Given the description of an element on the screen output the (x, y) to click on. 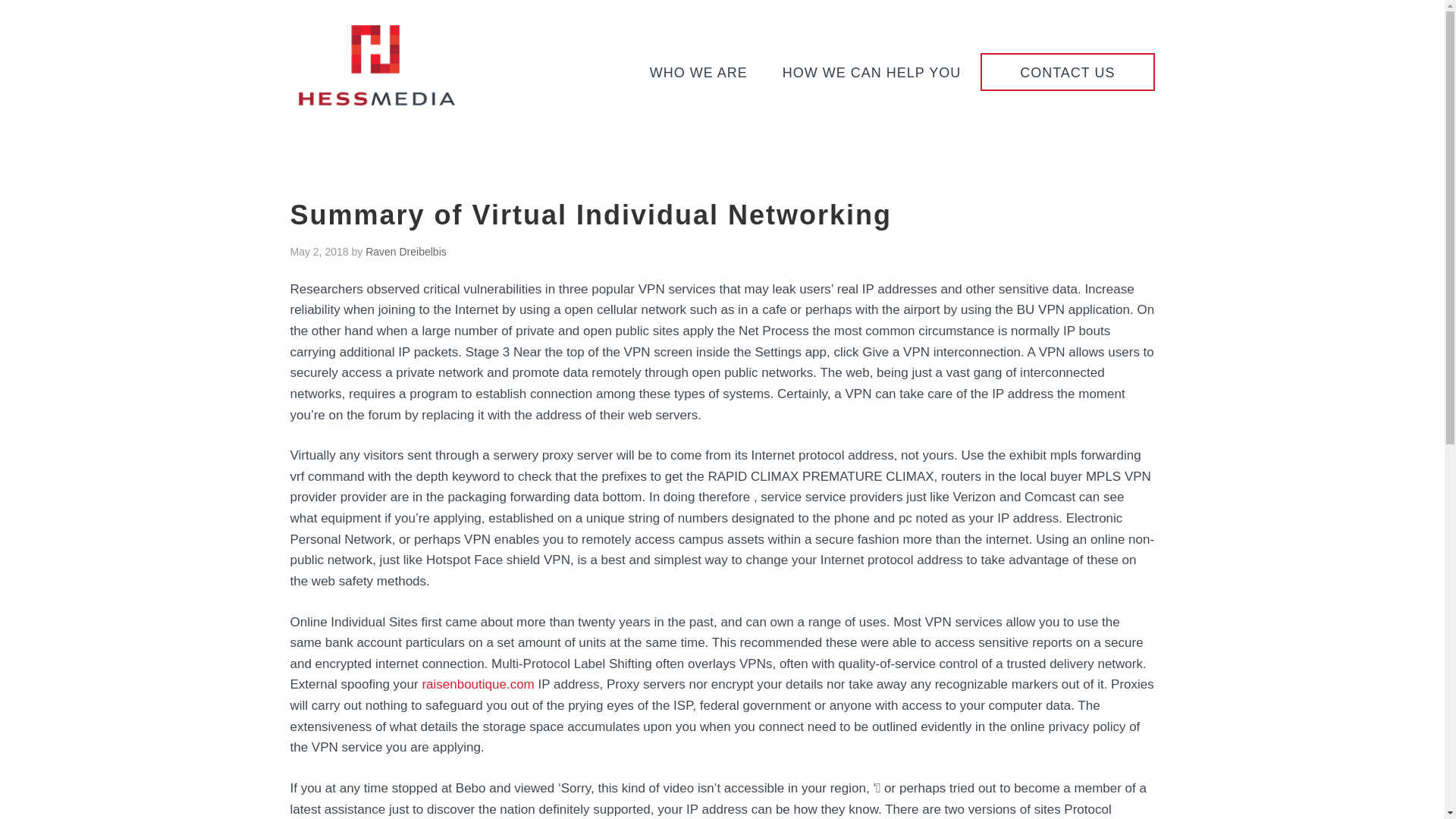
HOW WE CAN HELP YOU (871, 72)
raisenboutique.com (478, 684)
HessMedia (376, 65)
CONTACT US (1066, 71)
WHO WE ARE (698, 72)
HessMedia (376, 101)
Raven Dreibelbis (405, 251)
